Given the description of an element on the screen output the (x, y) to click on. 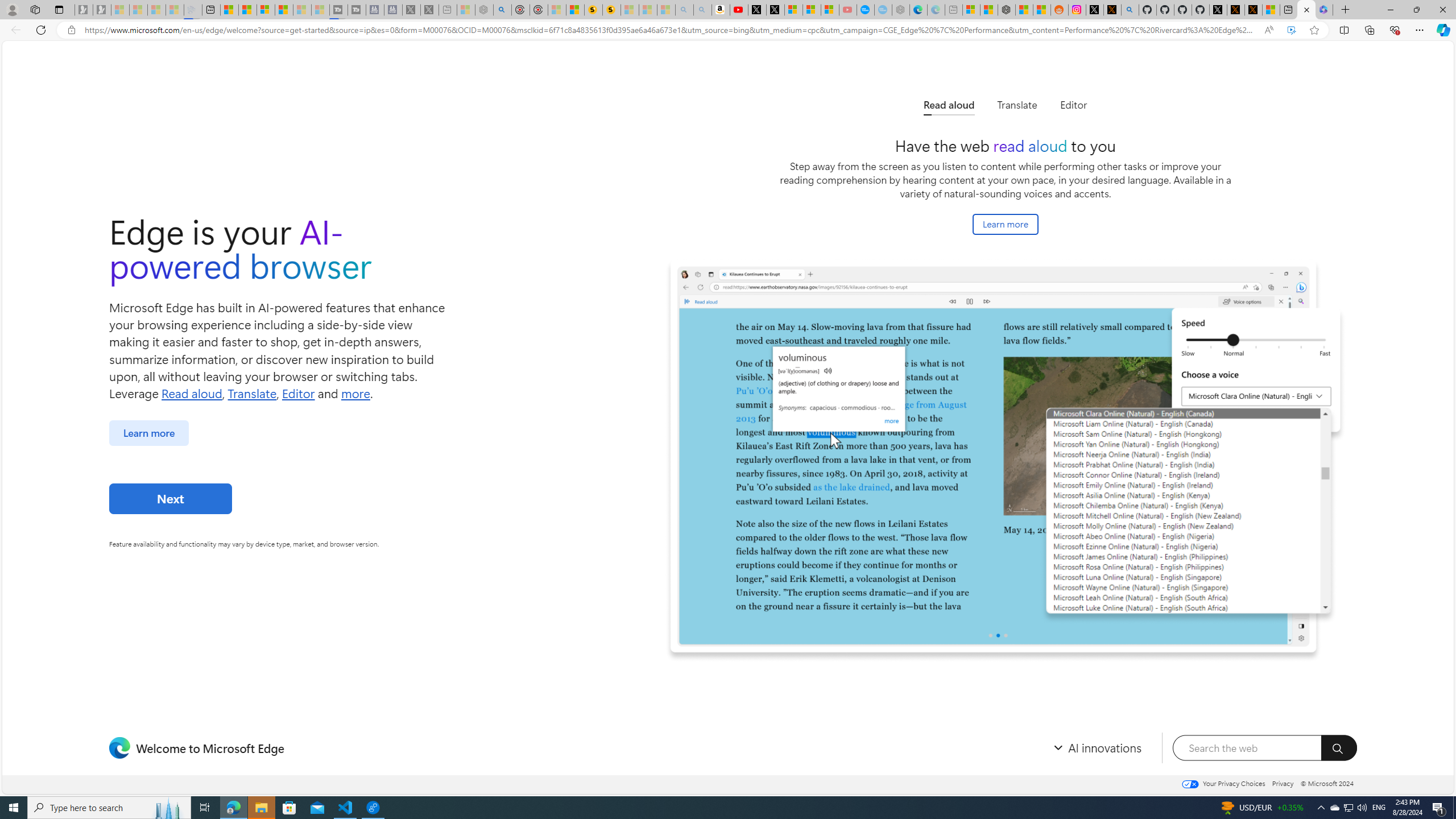
Microsoft account | Microsoft Account Privacy Settings (971, 9)
Opinion: Op-Ed and Commentary - USA TODAY (865, 9)
App bar (728, 29)
